Given the description of an element on the screen output the (x, y) to click on. 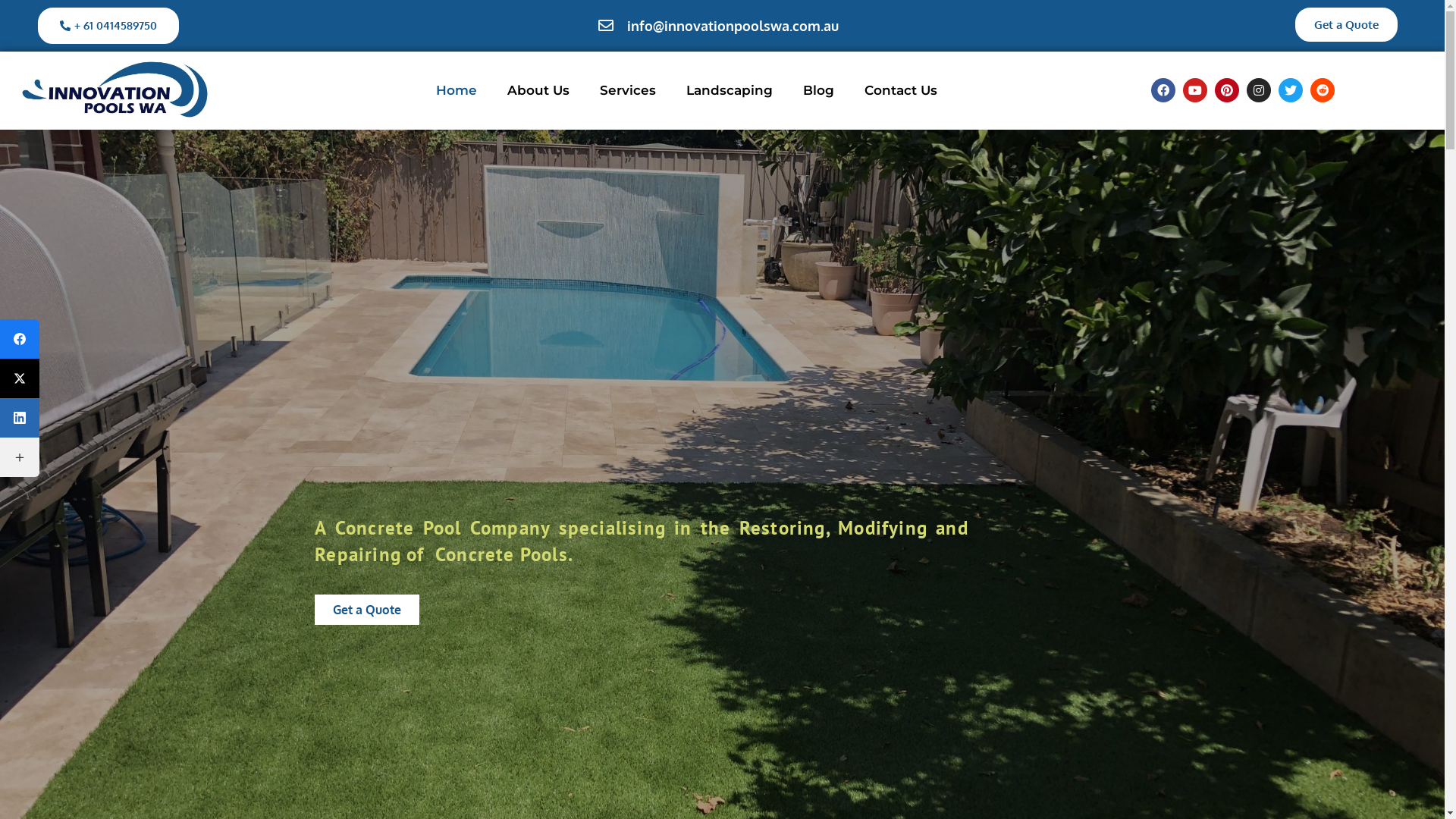
Services Element type: text (627, 89)
Landscaping Element type: text (729, 89)
Get a Quote Element type: text (1346, 24)
About Us Element type: text (538, 89)
Blog Element type: text (818, 89)
Home Element type: text (456, 89)
info@innovationpoolswa.com.au Element type: text (717, 25)
+ 61 0414589750 Element type: text (107, 25)
Get a Quote Element type: text (366, 609)
Contact Us Element type: text (900, 89)
